Given the description of an element on the screen output the (x, y) to click on. 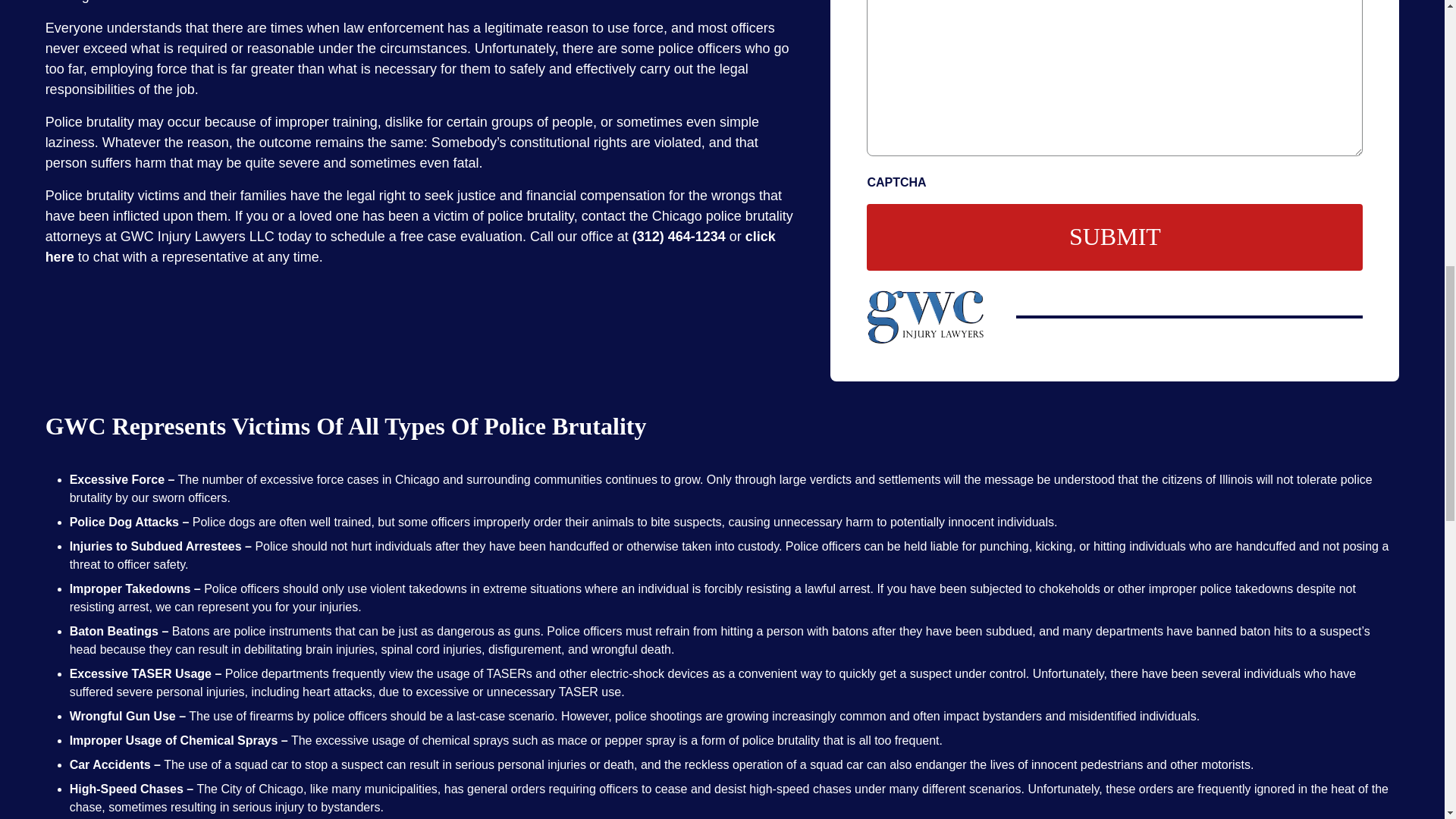
Submit (1114, 237)
